Given the description of an element on the screen output the (x, y) to click on. 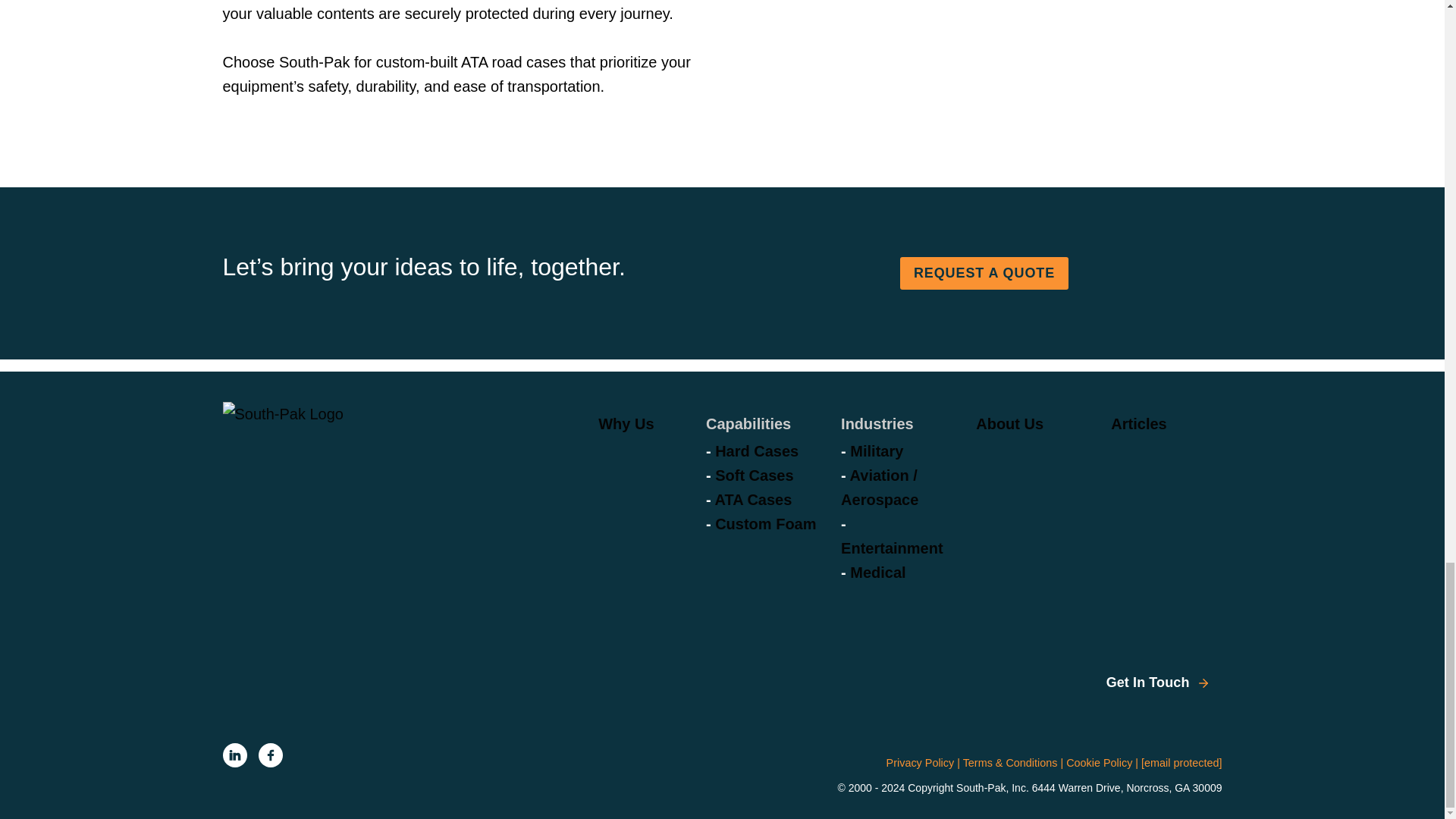
Why Us (625, 423)
Military (876, 451)
Custom Foam (764, 523)
Entertainment (891, 547)
Articles (1138, 423)
ATA Cases (753, 499)
Medical (877, 572)
Soft Cases (753, 475)
REQUEST A QUOTE (983, 273)
Hard Cases (755, 451)
